Given the description of an element on the screen output the (x, y) to click on. 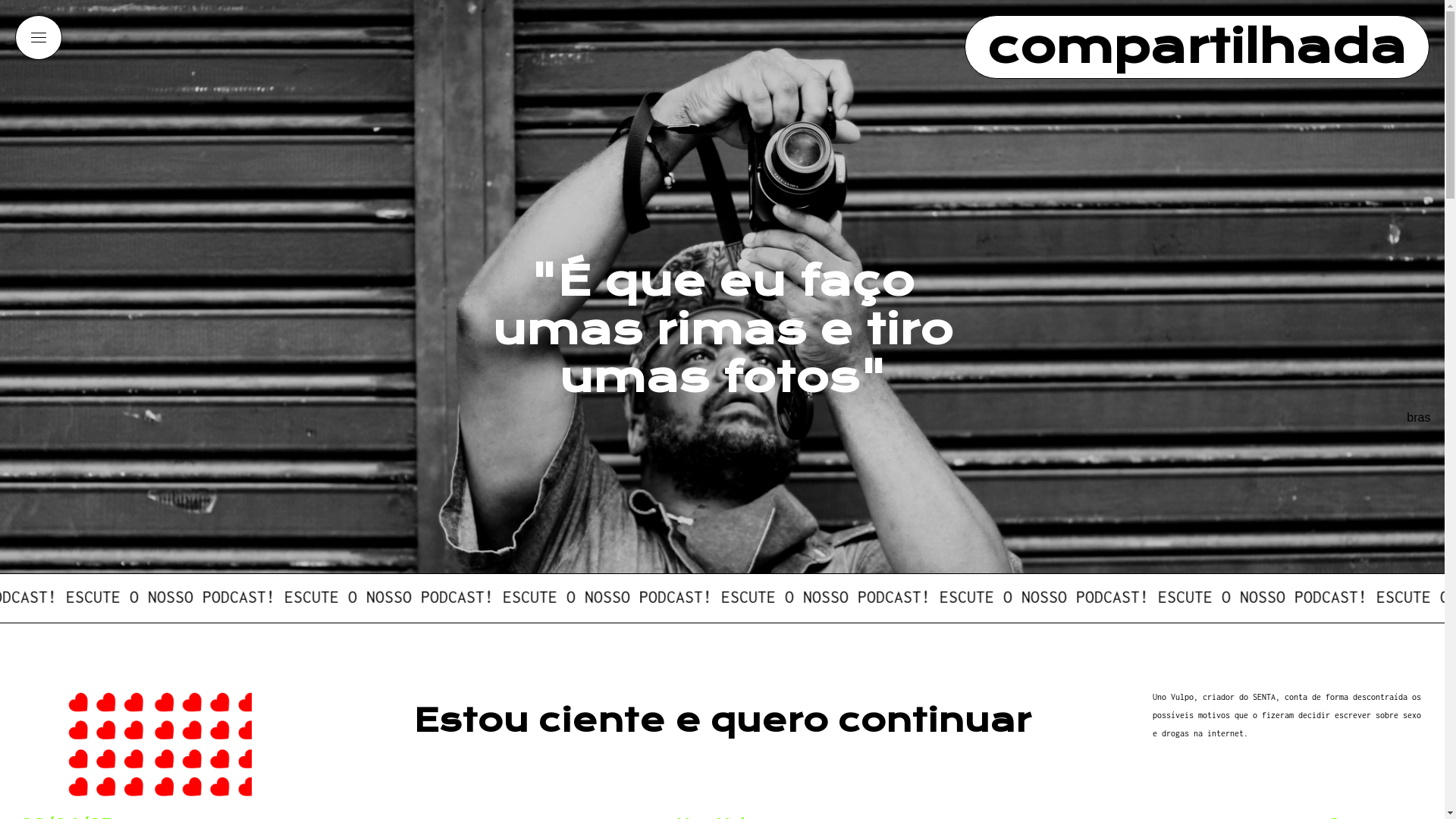
Estou ciente e quero continuar Element type: text (721, 720)
compartilhada Element type: text (1196, 46)
